Given the description of an element on the screen output the (x, y) to click on. 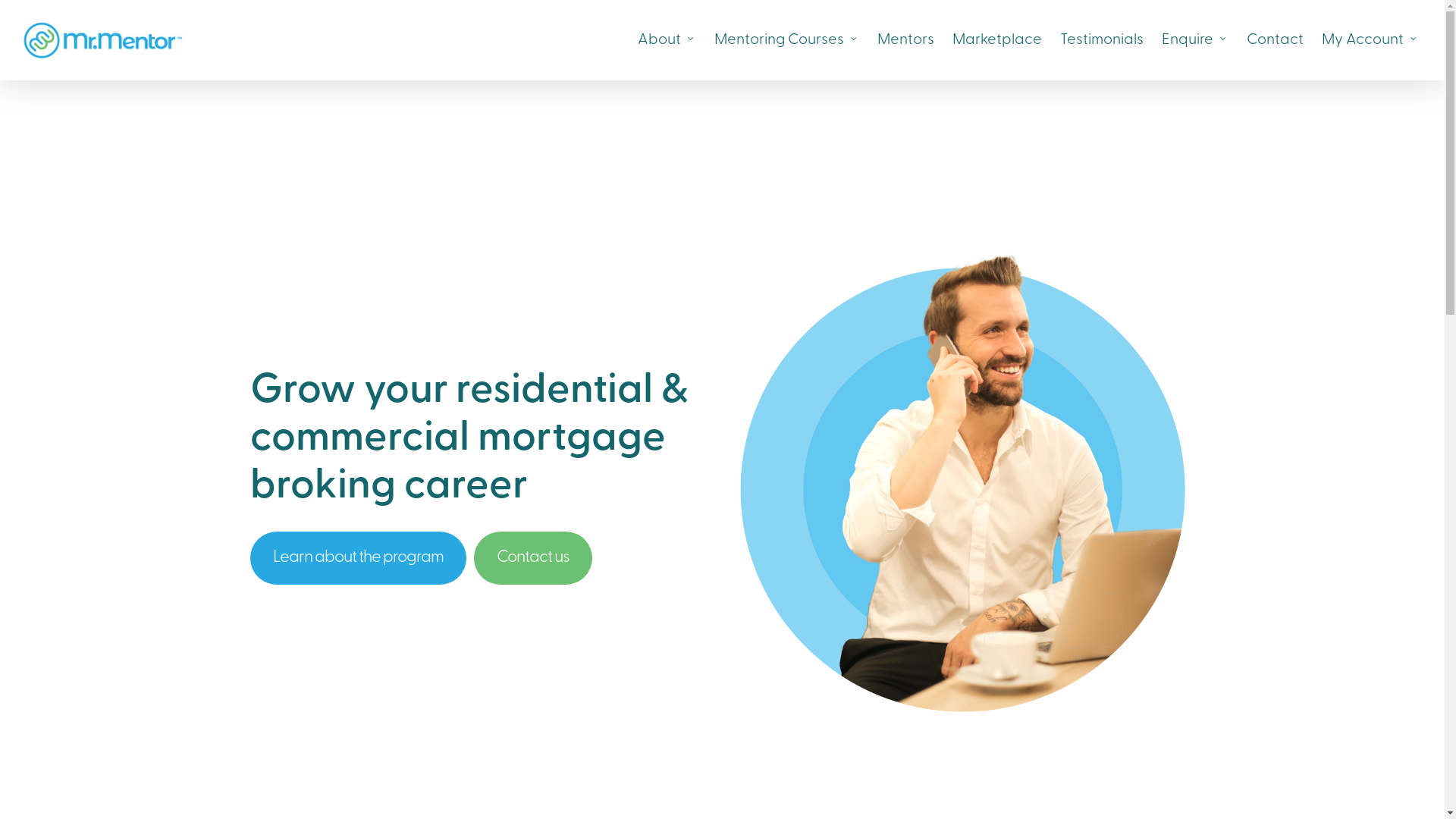
Contact us Element type: text (532, 557)
Enquire Element type: text (1194, 39)
Mentors Element type: text (905, 39)
Marketplace Element type: text (997, 39)
Learn about the program Element type: text (358, 557)
Testimonials Element type: text (1101, 39)
My Account Element type: text (1369, 39)
Contact Element type: text (1274, 39)
Mentoring Courses Element type: text (786, 39)
About Element type: text (666, 39)
